Given the description of an element on the screen output the (x, y) to click on. 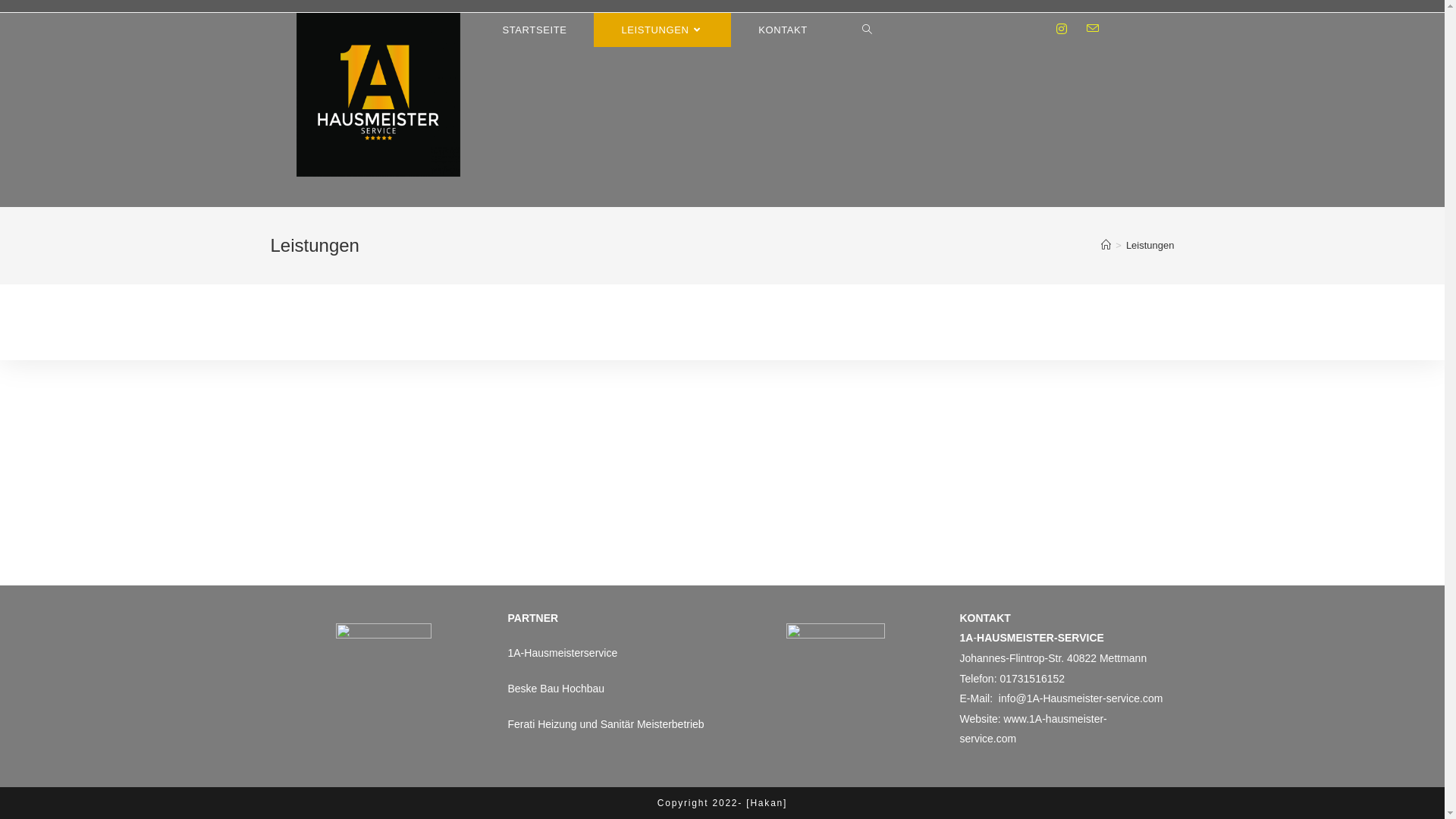
01731516152 Element type: text (1031, 678)
Toggle website search Element type: text (866, 29)
LEISTUNGEN Element type: text (662, 29)
www.1A-hausmeister-service.com Element type: text (1033, 728)
Leistungen Element type: text (1150, 245)
STARTSEITE Element type: text (533, 29)
KONTAKT Element type: text (782, 29)
info@1A-Hausmeister-service.com Element type: text (1080, 698)
